Given the description of an element on the screen output the (x, y) to click on. 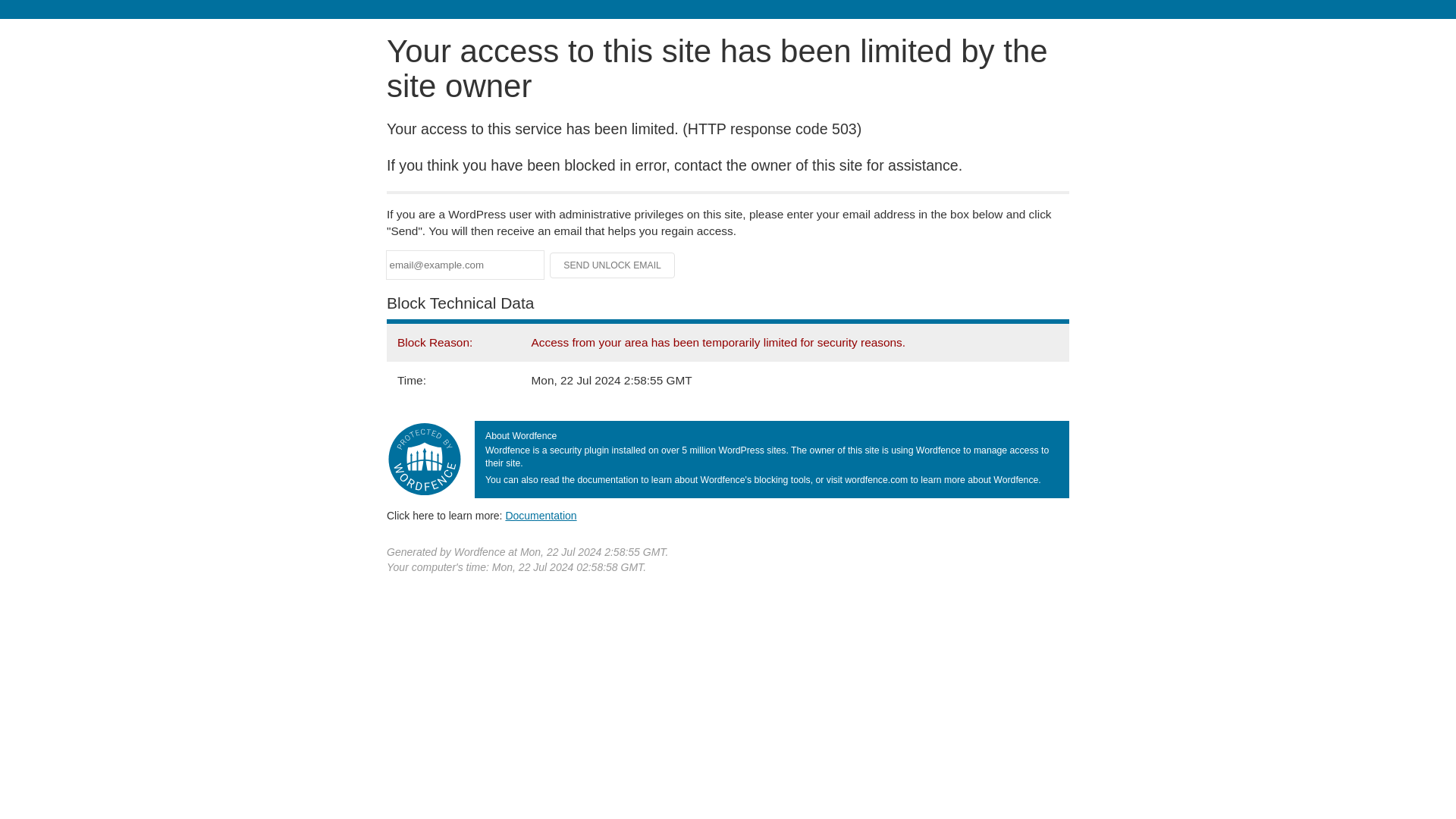
Documentation (540, 515)
Send Unlock Email (612, 265)
Send Unlock Email (612, 265)
